Given the description of an element on the screen output the (x, y) to click on. 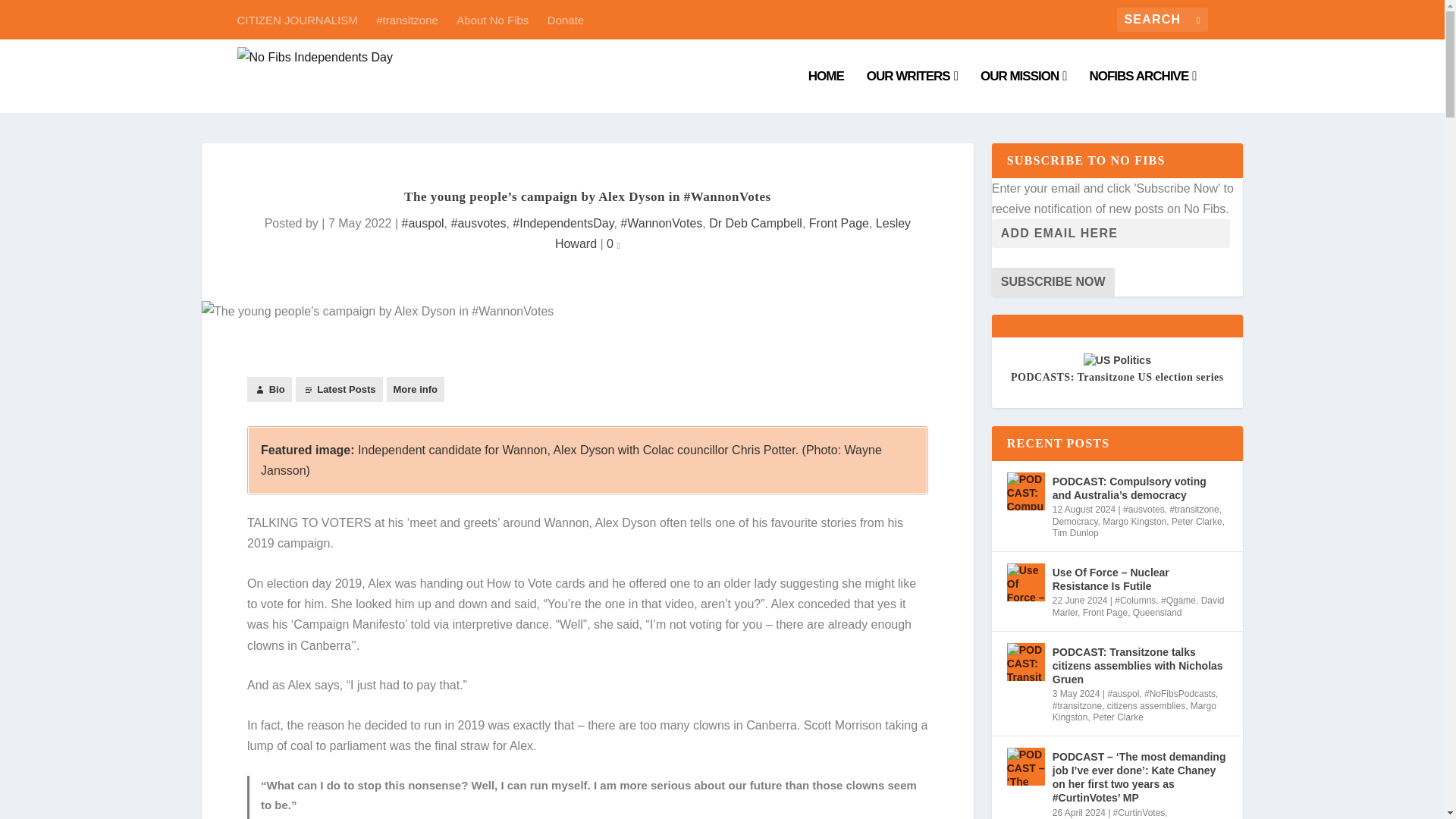
NOFIBS ARCHIVE (1142, 91)
Bio (269, 389)
Search for: (1161, 19)
Front Page (839, 223)
About No Fibs (492, 19)
0 (613, 243)
Dr Deb Campbell (755, 223)
OUR MISSION (1023, 91)
Donate (565, 19)
Citizen journalism  (1023, 91)
